Given the description of an element on the screen output the (x, y) to click on. 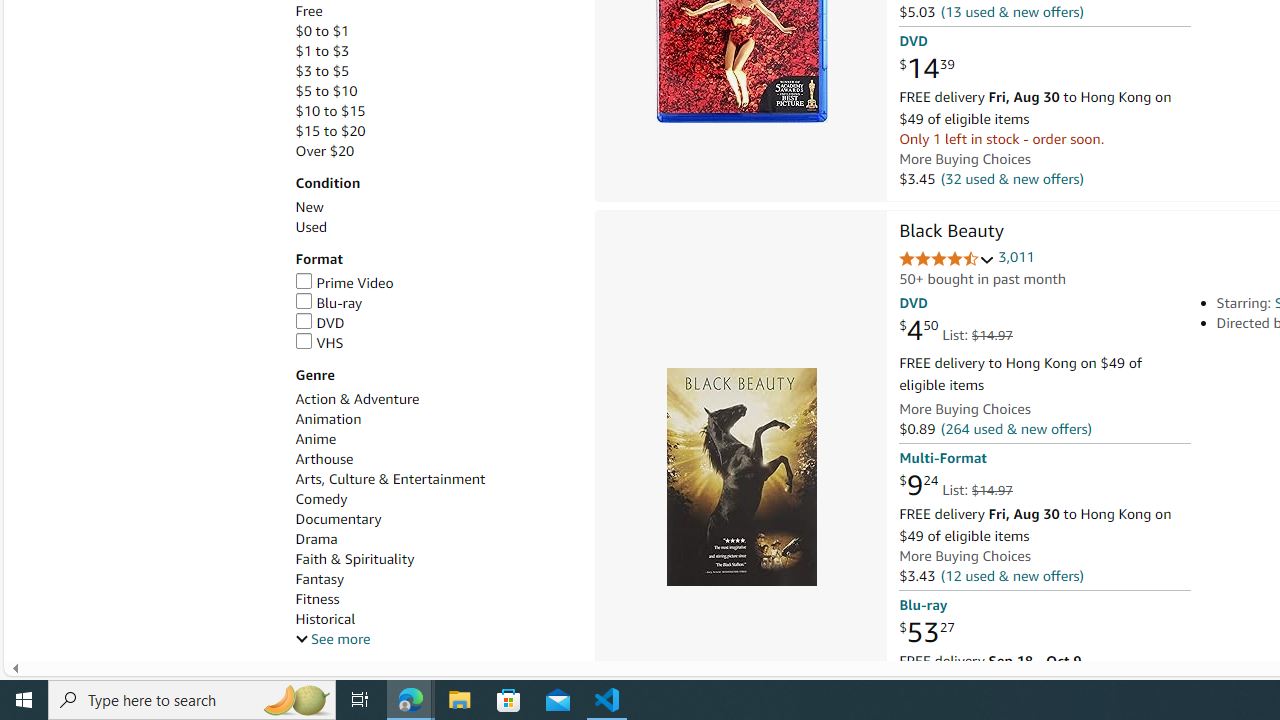
$15 to $20 (434, 131)
Used (434, 227)
(12 used & new offers) (1011, 574)
Historical (434, 619)
Multi-Format (942, 458)
$0 to $1 (434, 31)
Historical (324, 619)
Fitness (317, 599)
Used (310, 227)
